Given the description of an element on the screen output the (x, y) to click on. 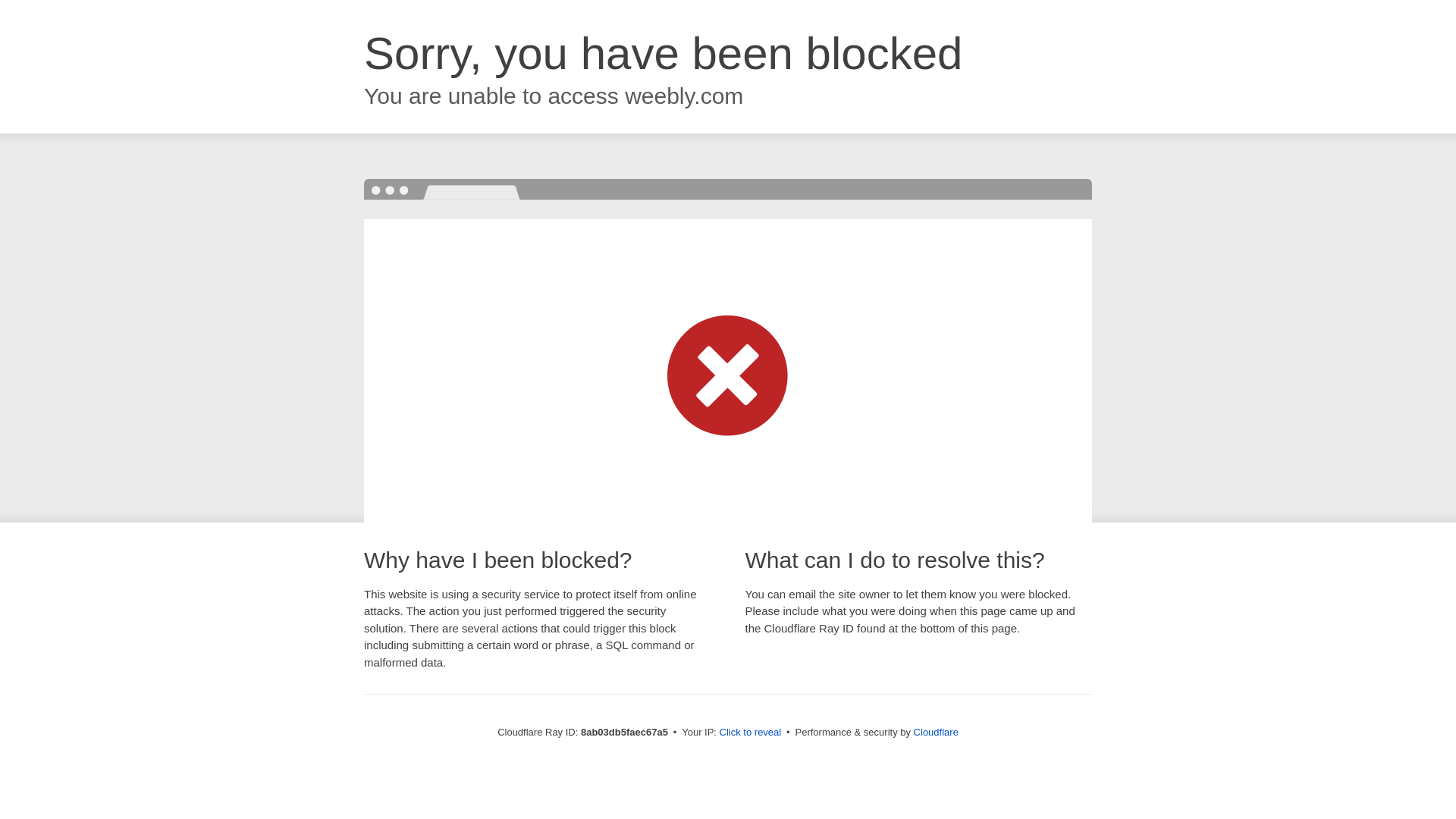
Click to reveal (750, 732)
Cloudflare (936, 731)
